Given the description of an element on the screen output the (x, y) to click on. 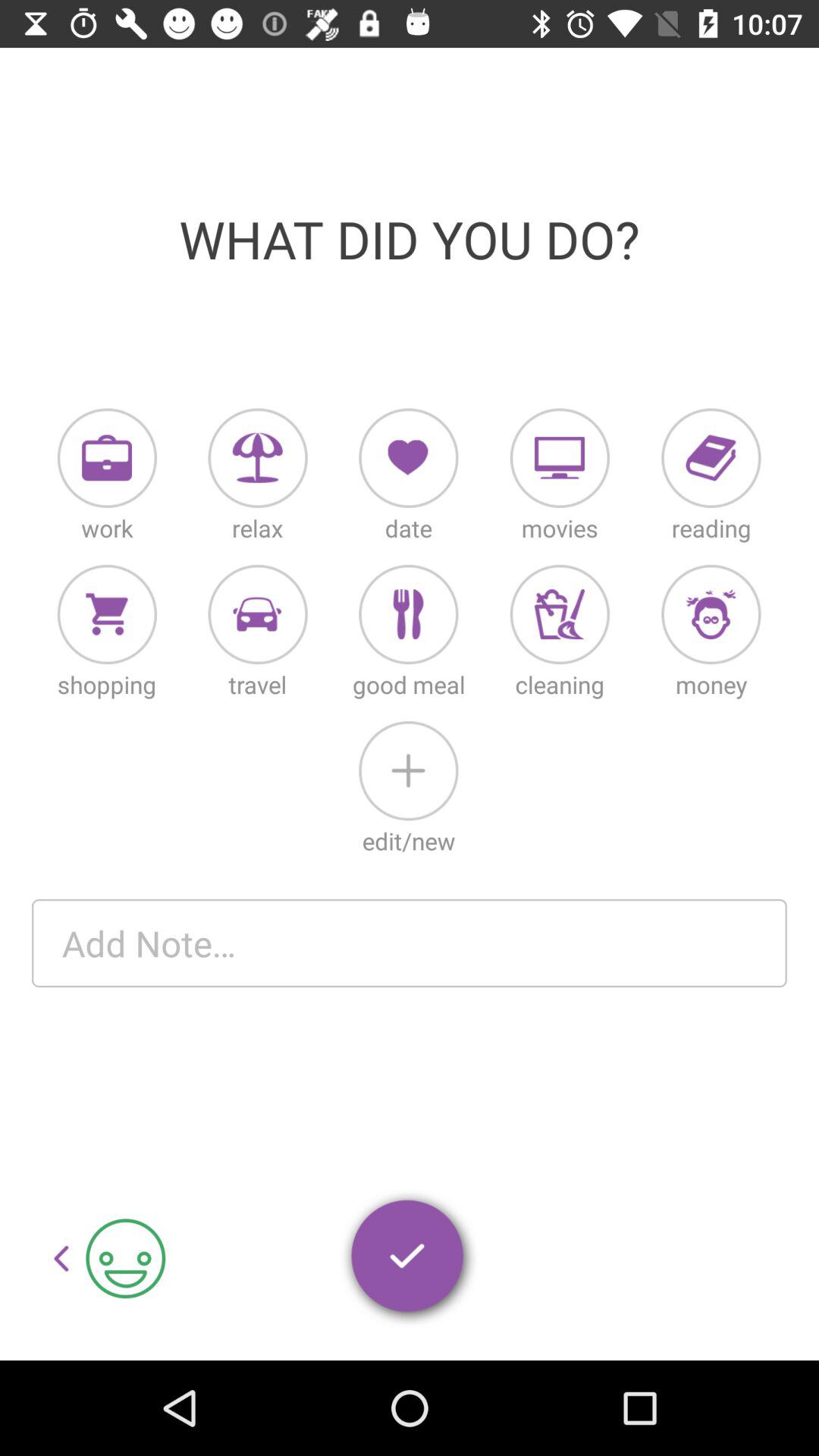
select money (710, 614)
